Given the description of an element on the screen output the (x, y) to click on. 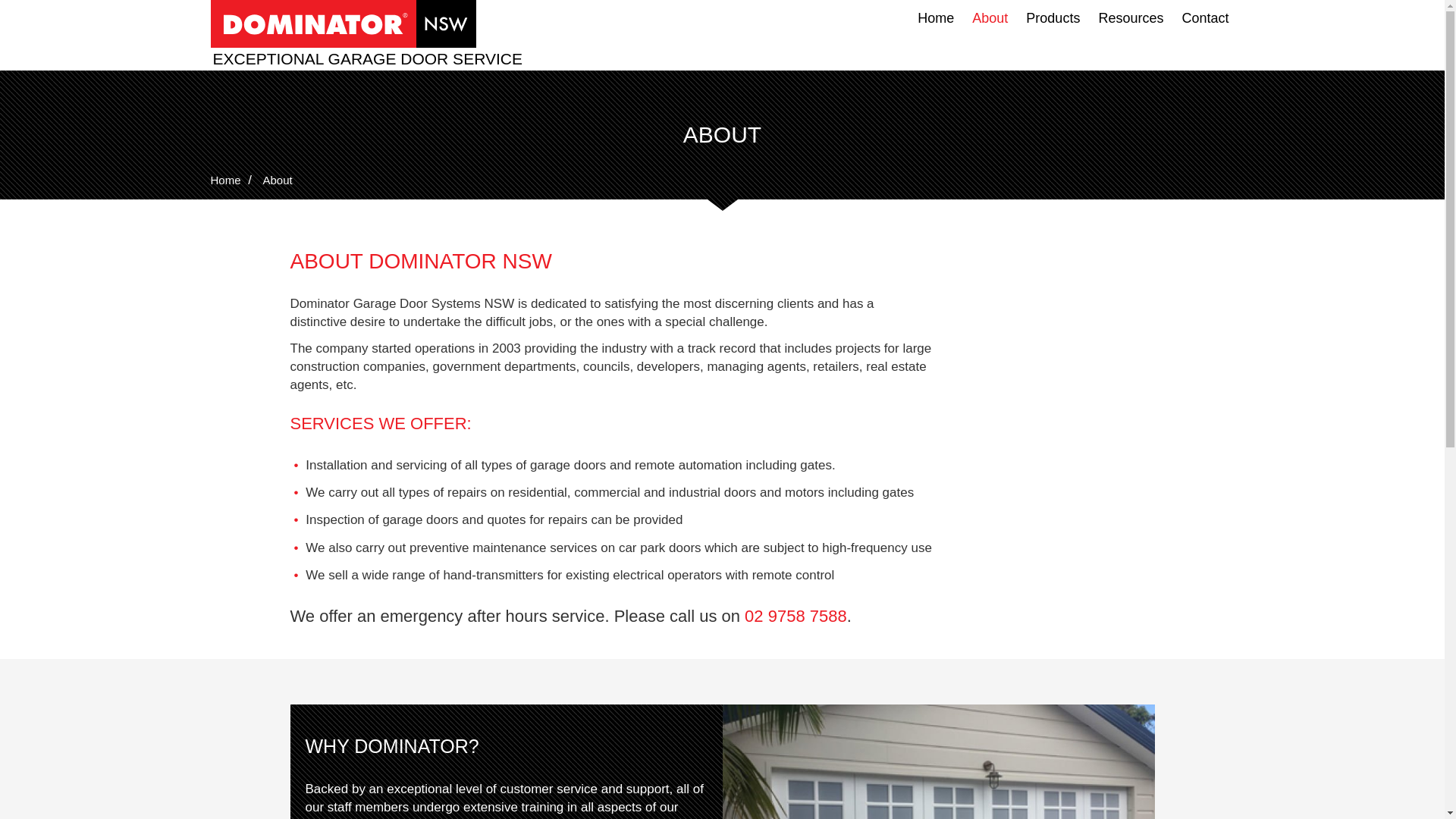
Resources (1130, 18)
EXCEPTIONAL GARAGE DOOR SERVICE (370, 58)
Home (935, 18)
Products (1052, 18)
About (989, 18)
